Given the description of an element on the screen output the (x, y) to click on. 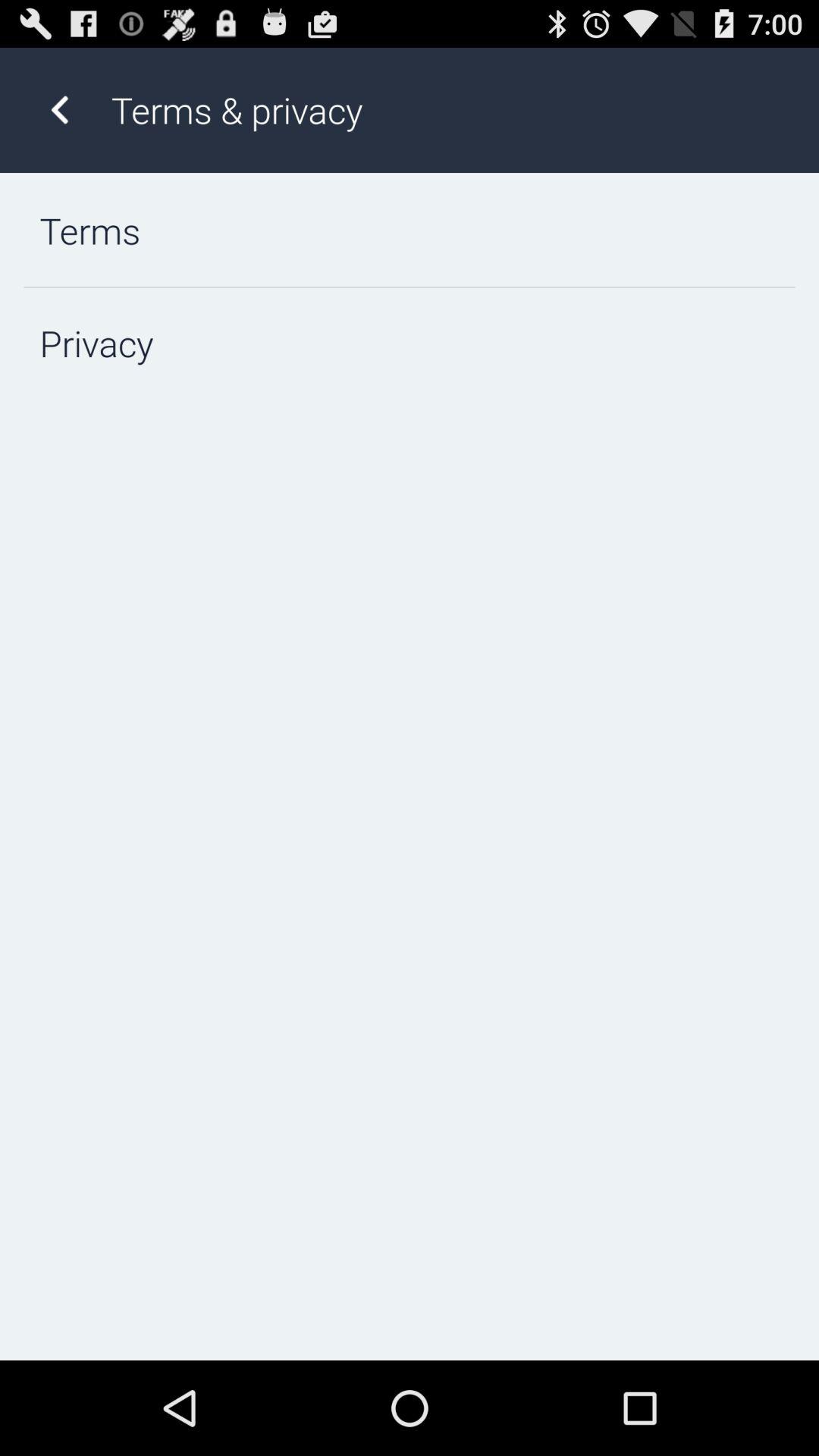
choose the icon next to the terms & privacy icon (59, 109)
